Given the description of an element on the screen output the (x, y) to click on. 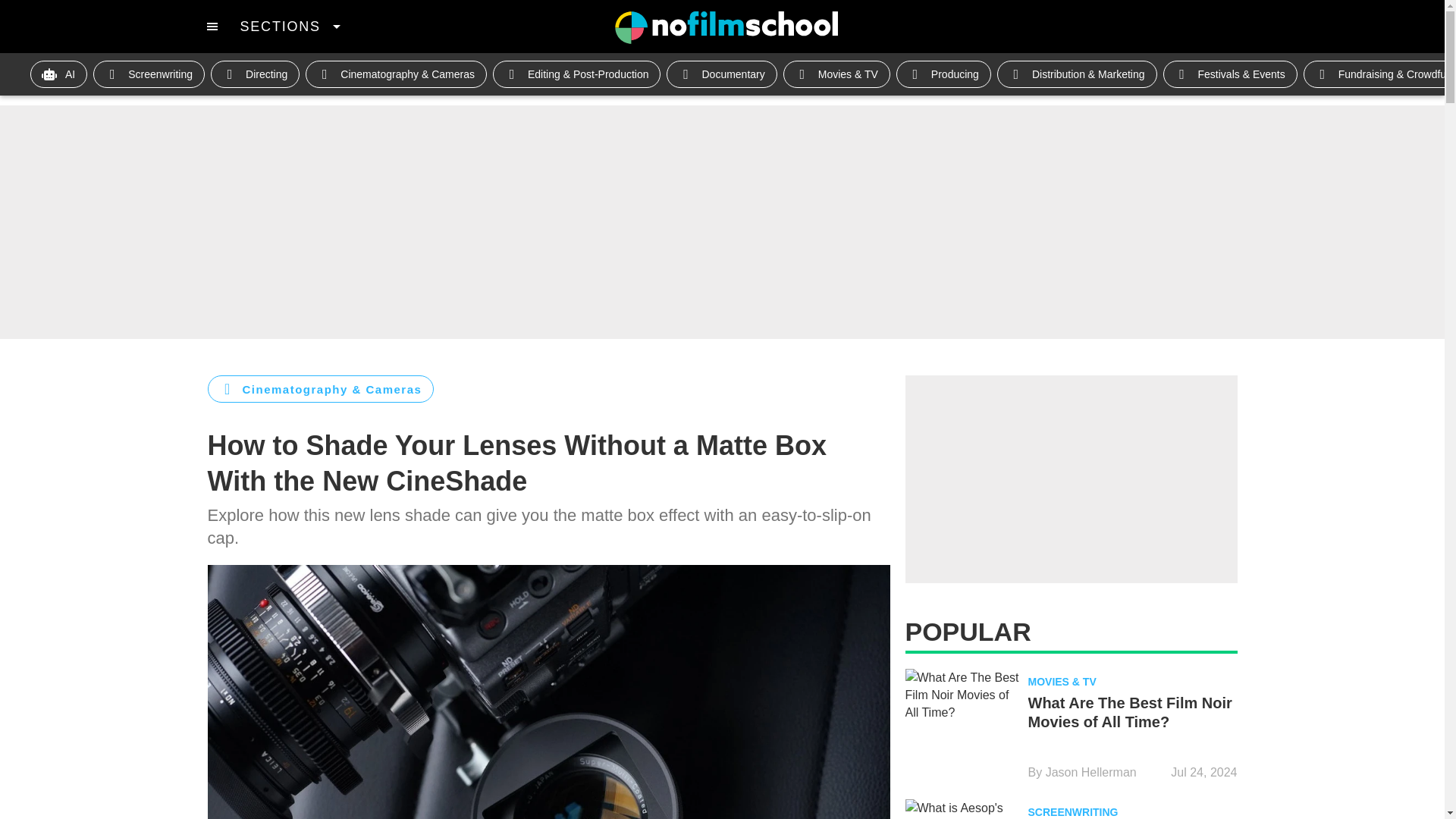
Producing (943, 73)
Screenwriting (149, 73)
NO FILM SCHOOL (725, 27)
Documentary (721, 73)
SECTIONS (289, 26)
NO FILM SCHOOL (725, 27)
AI (58, 73)
Directing (255, 73)
